Given the description of an element on the screen output the (x, y) to click on. 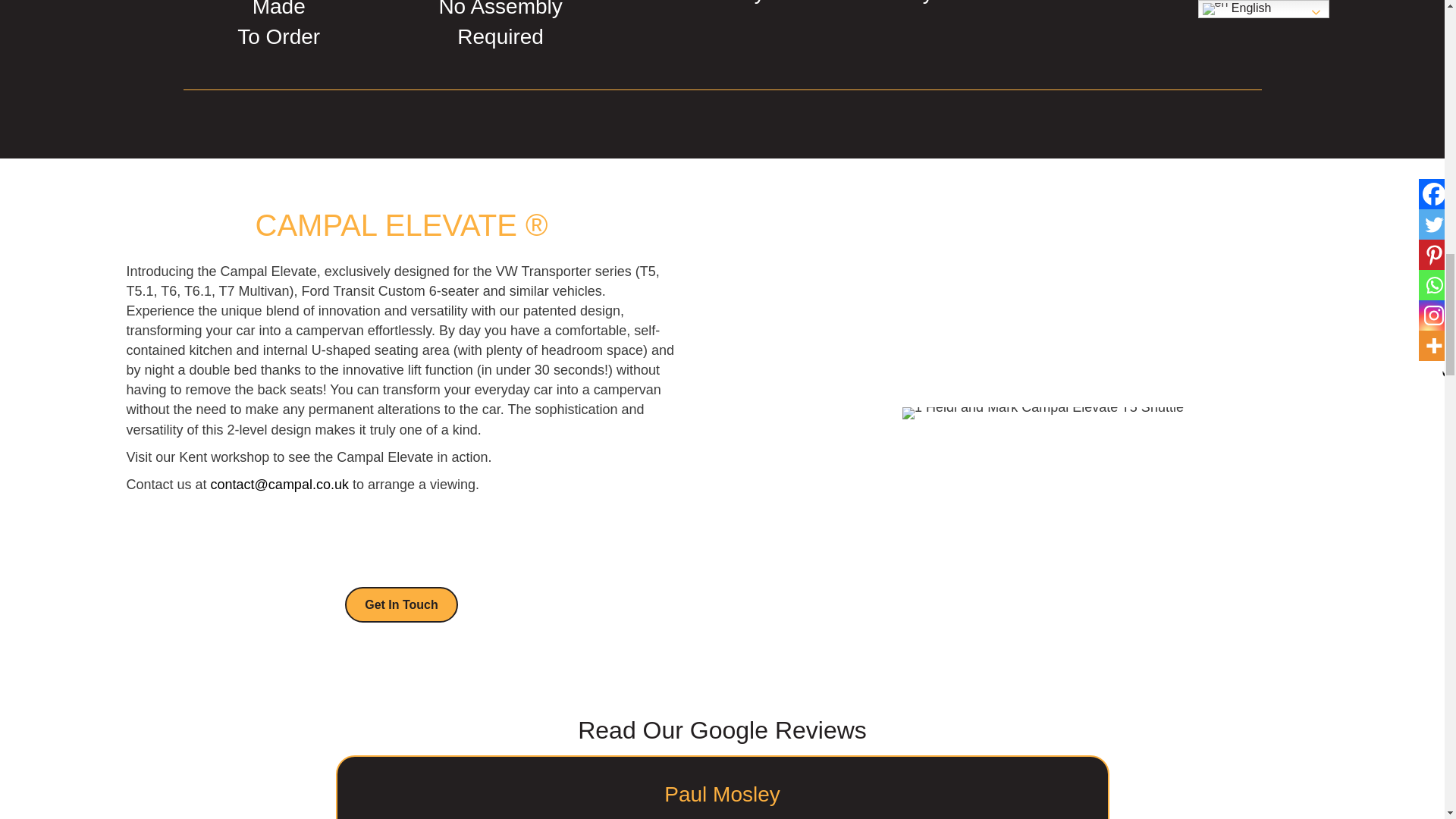
1 Heidi and Mark Campal Elevate T5 Shuttle (1042, 413)
Get In Touch (401, 604)
